Given the description of an element on the screen output the (x, y) to click on. 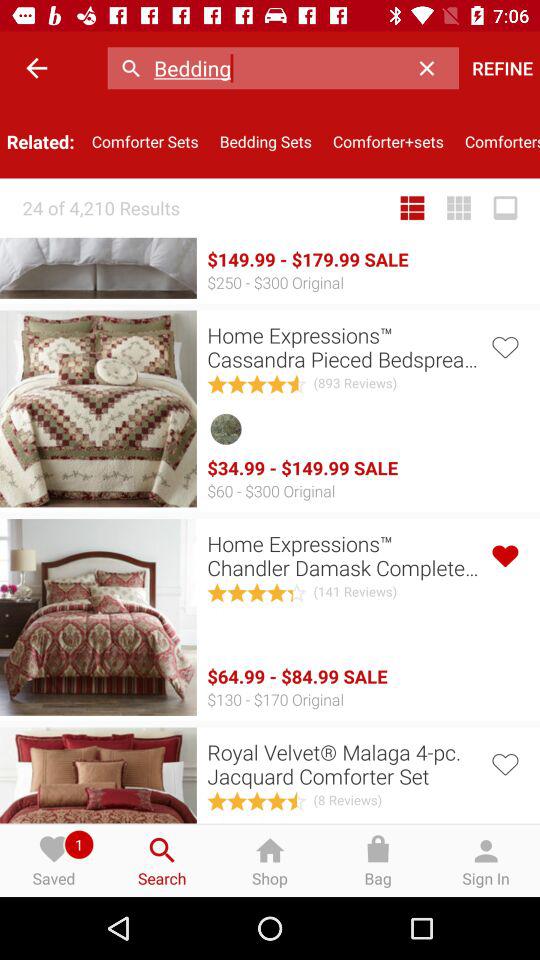
to add to your favorites list (504, 345)
